Given the description of an element on the screen output the (x, y) to click on. 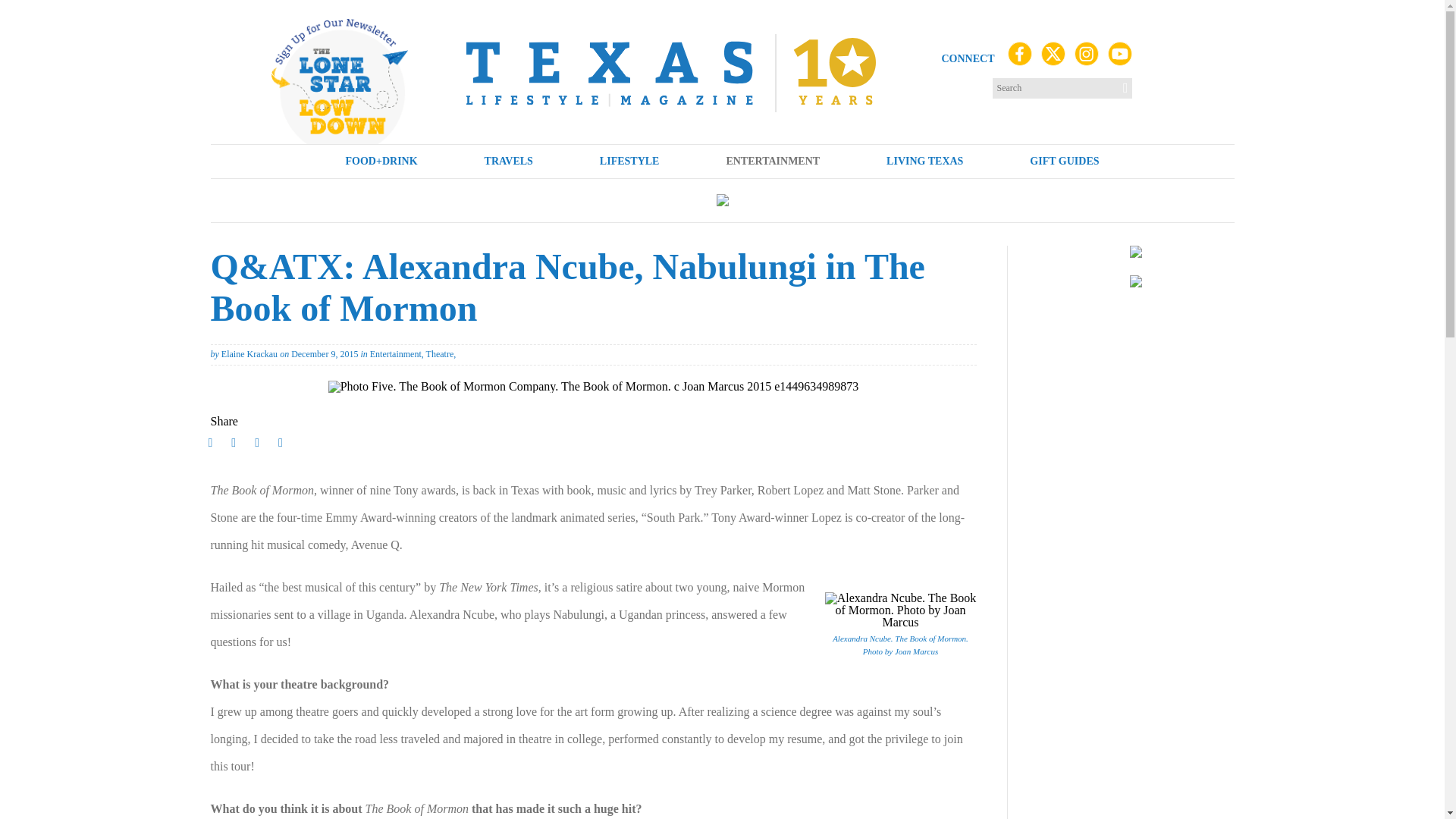
CONNECT (967, 58)
ENTERTAINMENT (772, 161)
Entertainment (395, 353)
LIVING TEXAS (924, 161)
Theatre (440, 353)
GIFT GUIDES (1063, 161)
LIFESTYLE (629, 161)
TRAVELS (508, 161)
